Given the description of an element on the screen output the (x, y) to click on. 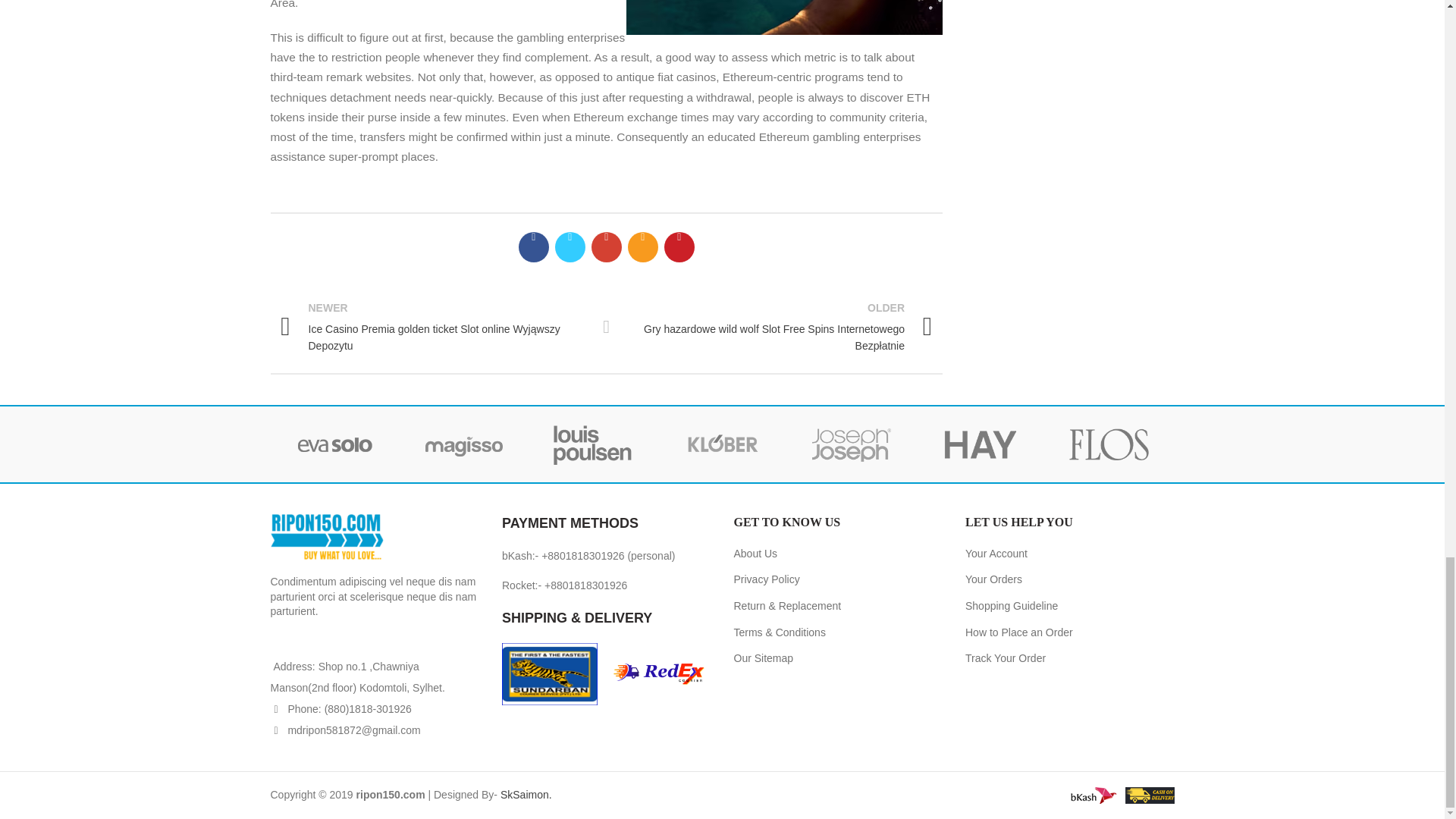
Vitra (334, 443)
